Given the description of an element on the screen output the (x, y) to click on. 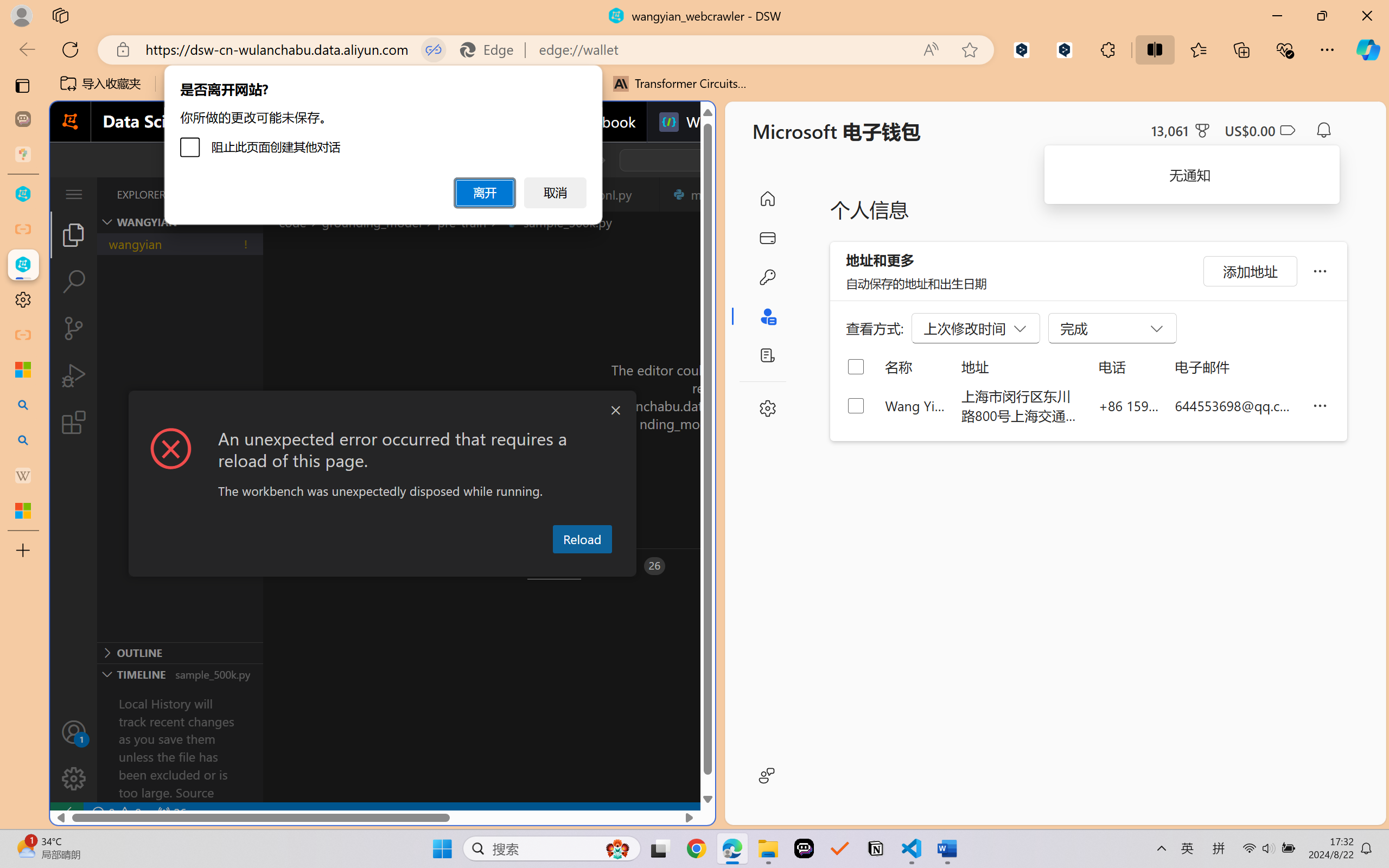
Microsoft security help and learning (22, 369)
Output (Ctrl+Shift+U) (377, 565)
Explorer (Ctrl+Shift+E) (73, 234)
